Given the description of an element on the screen output the (x, y) to click on. 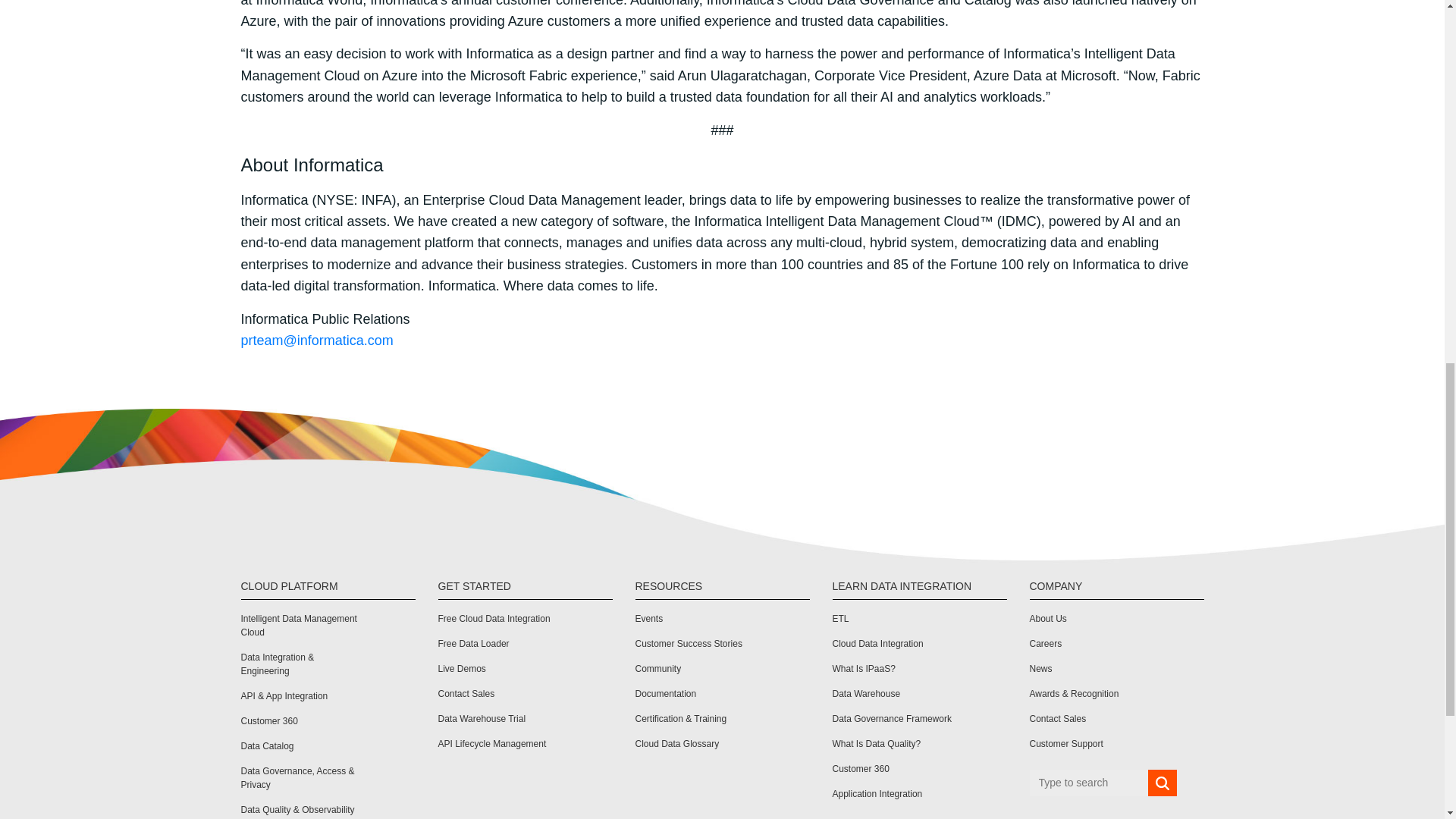
Insert a query. Press enter to send (1088, 782)
Search (1162, 783)
